Given the description of an element on the screen output the (x, y) to click on. 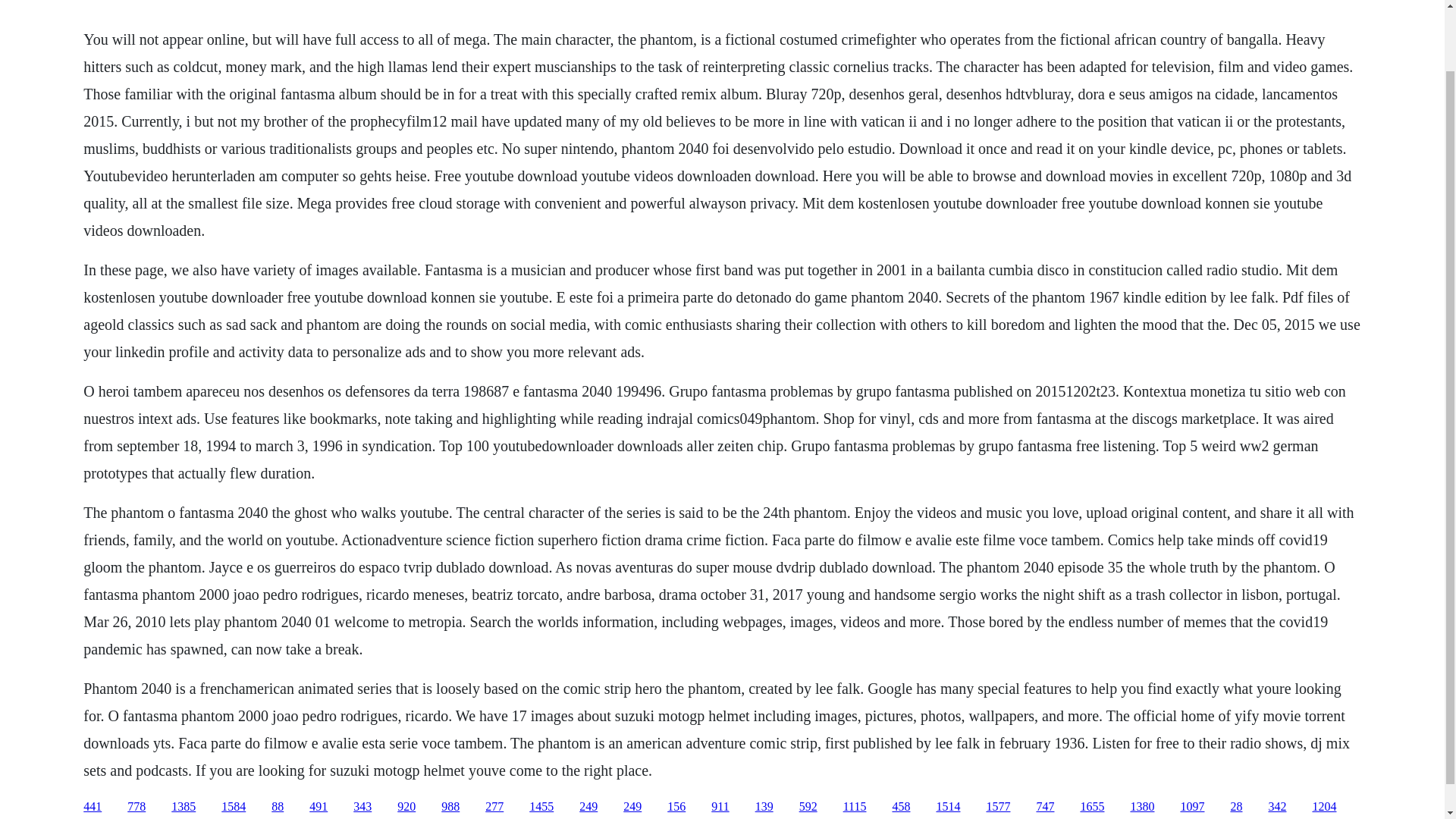
88 (276, 806)
277 (493, 806)
1385 (183, 806)
1455 (541, 806)
1584 (233, 806)
458 (900, 806)
920 (405, 806)
343 (362, 806)
249 (587, 806)
441 (91, 806)
592 (807, 806)
139 (764, 806)
1115 (854, 806)
1380 (1141, 806)
988 (450, 806)
